Given the description of an element on the screen output the (x, y) to click on. 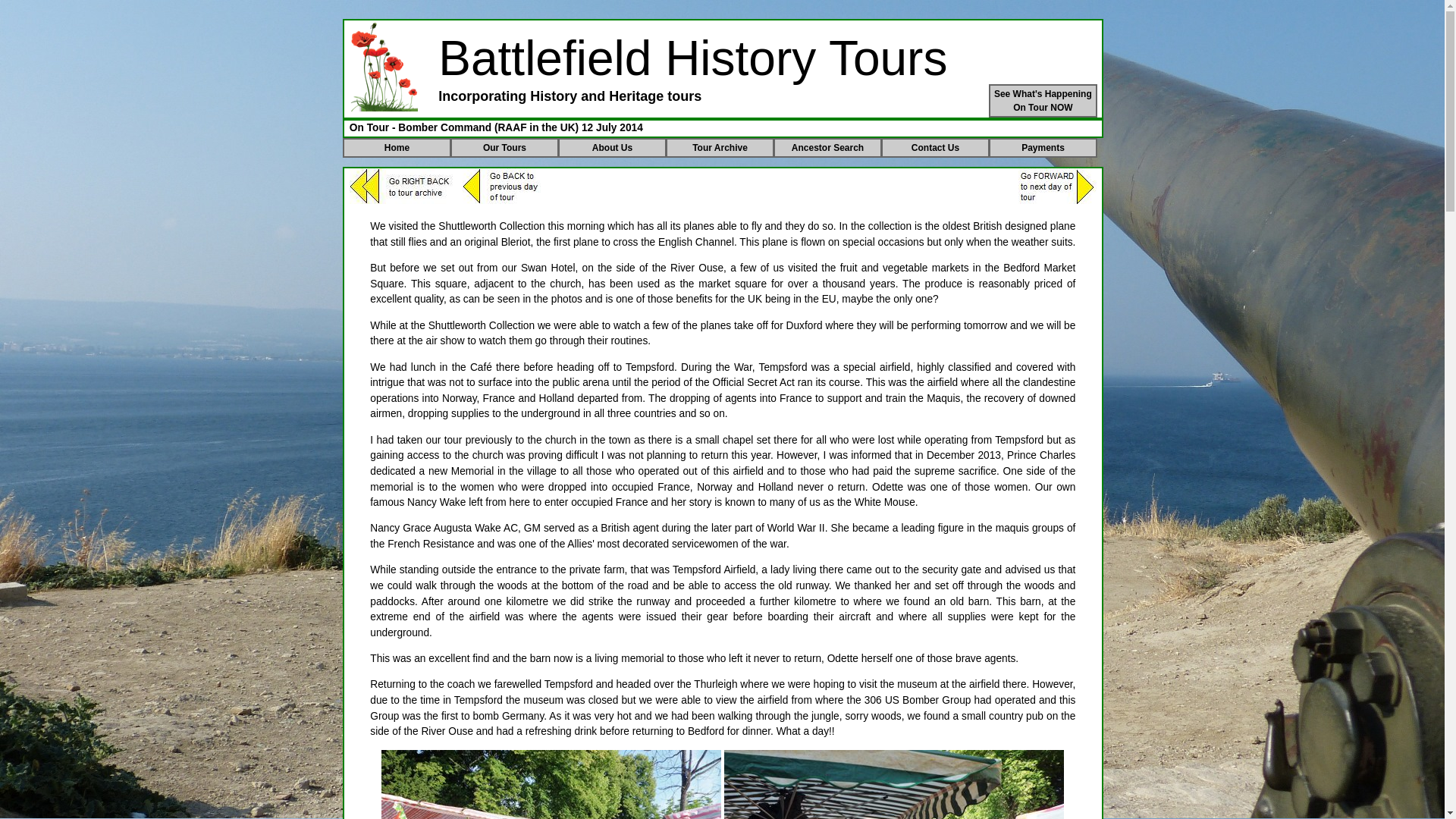
RAAF in the UK Tour 12 July 2014 (550, 784)
Payments (1042, 148)
Contact Us (935, 148)
Home (383, 66)
Back to Previous Day of Tour (501, 185)
On to the next day of the tour (1056, 185)
RAAF in the UK Tour 12 July 2014 (893, 784)
About Us (611, 148)
Ancestor Search (827, 148)
Right Back to On Tour (401, 185)
Our Tours (1042, 100)
Tour Archive (504, 148)
Home (719, 148)
